Given the description of an element on the screen output the (x, y) to click on. 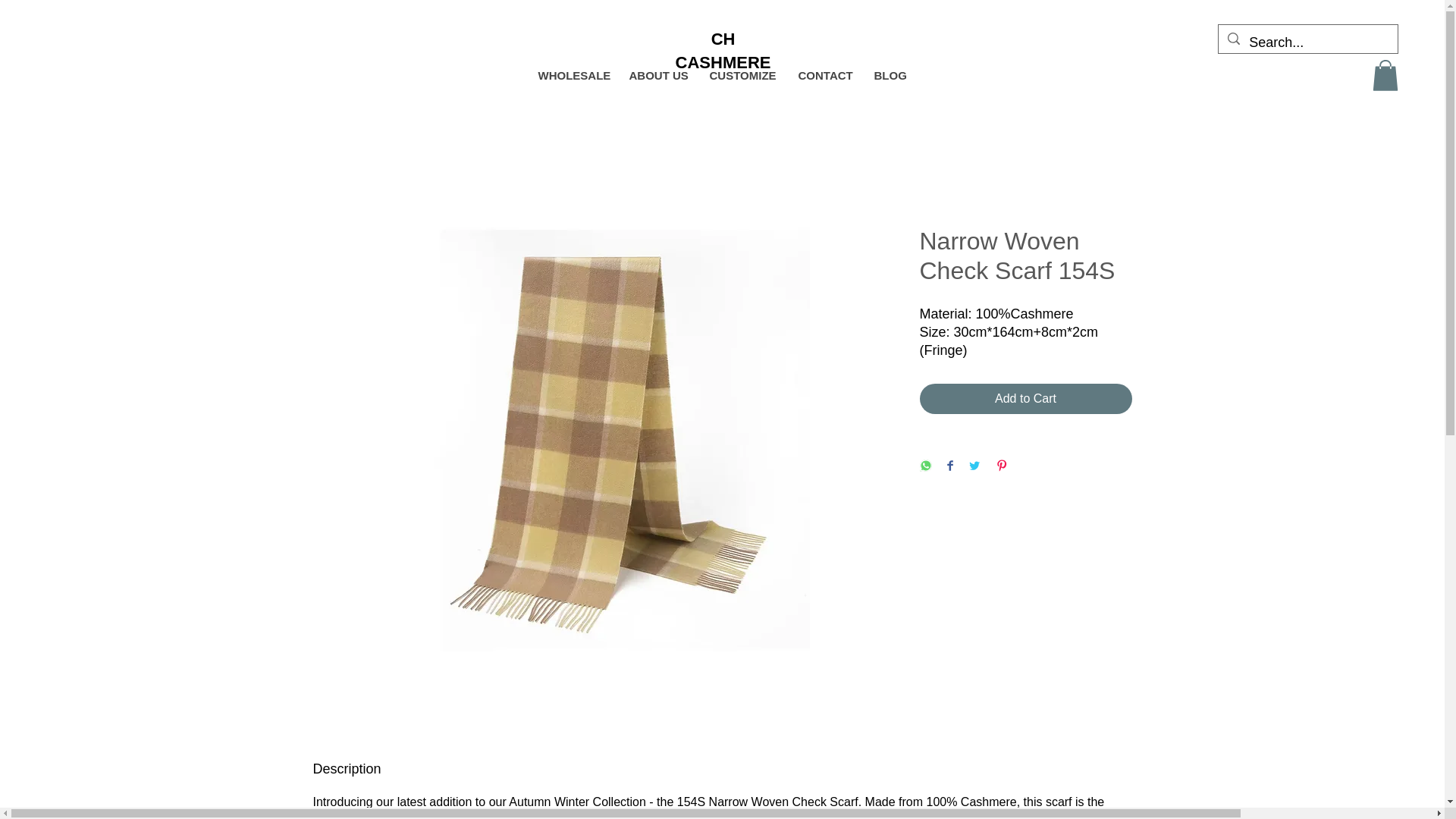
WHOLESALE (571, 75)
ABOUT US (657, 75)
Add to Cart (1024, 399)
Log In (1284, 79)
CUSTOMIZE (741, 75)
CH CASHMERE (723, 50)
BLOG (889, 75)
CONTACT (823, 75)
